Given the description of an element on the screen output the (x, y) to click on. 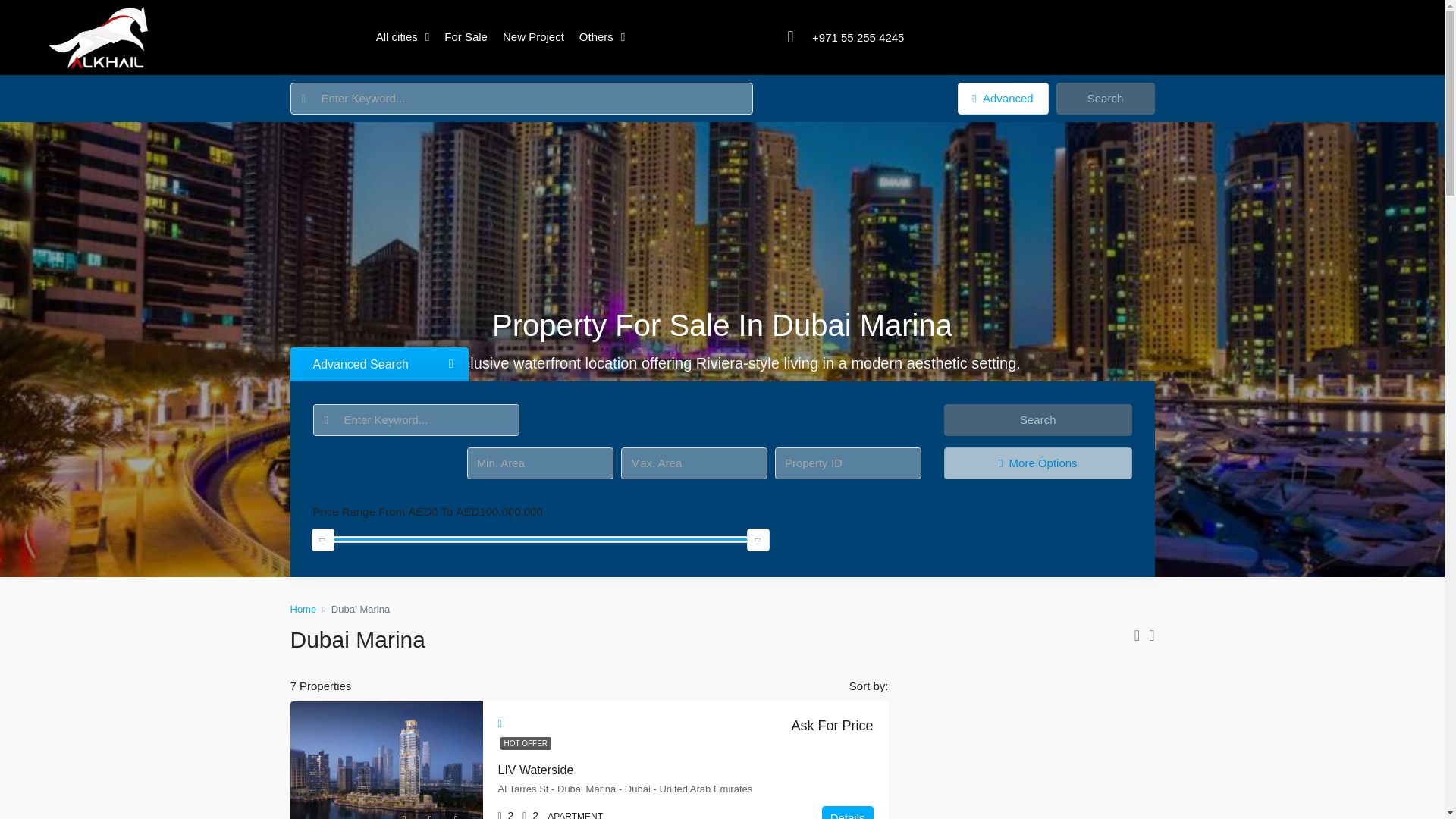
Others (602, 36)
For Sale (465, 36)
New Project (533, 36)
All cities (403, 36)
